Given the description of an element on the screen output the (x, y) to click on. 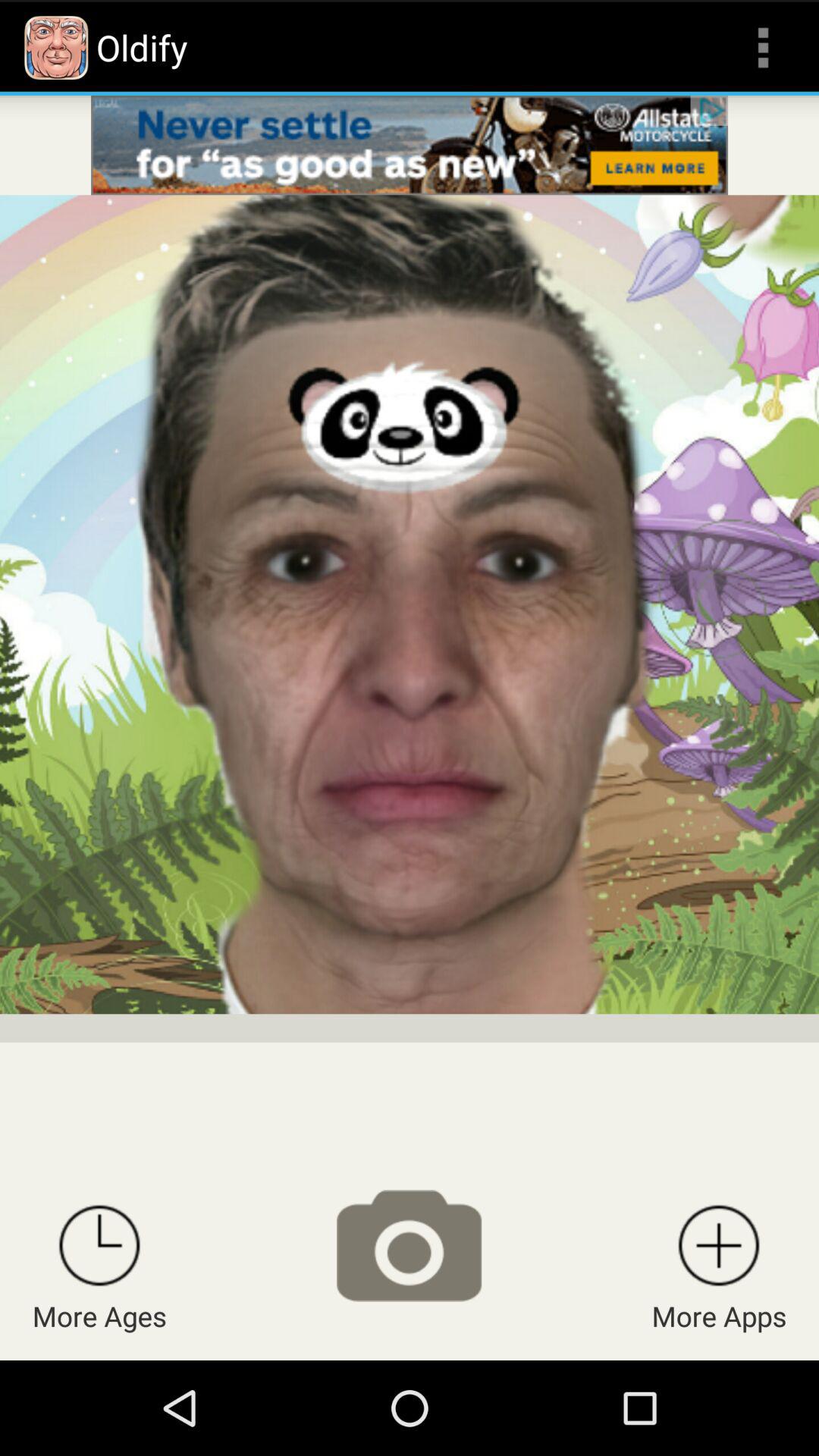
advertisement (409, 145)
